Given the description of an element on the screen output the (x, y) to click on. 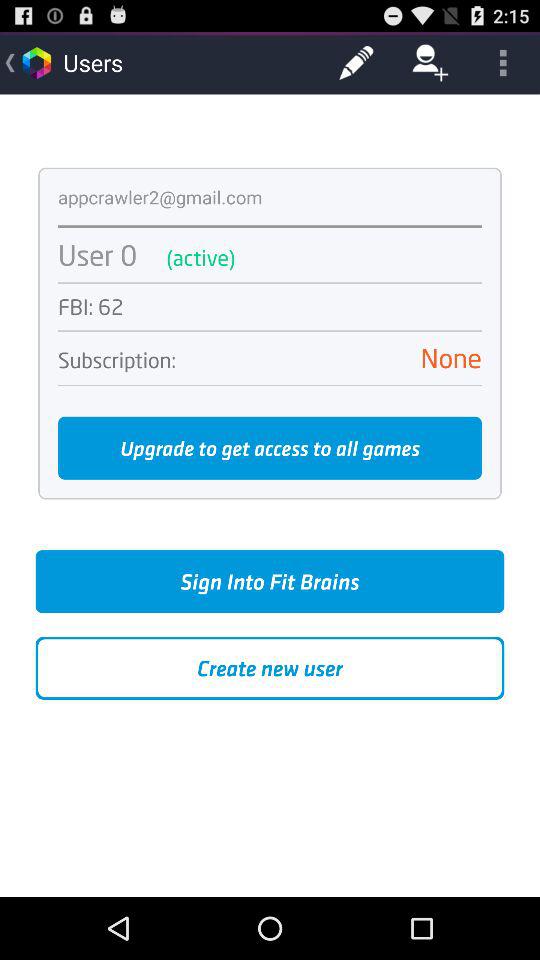
turn on item next to the subscription: item (338, 358)
